Given the description of an element on the screen output the (x, y) to click on. 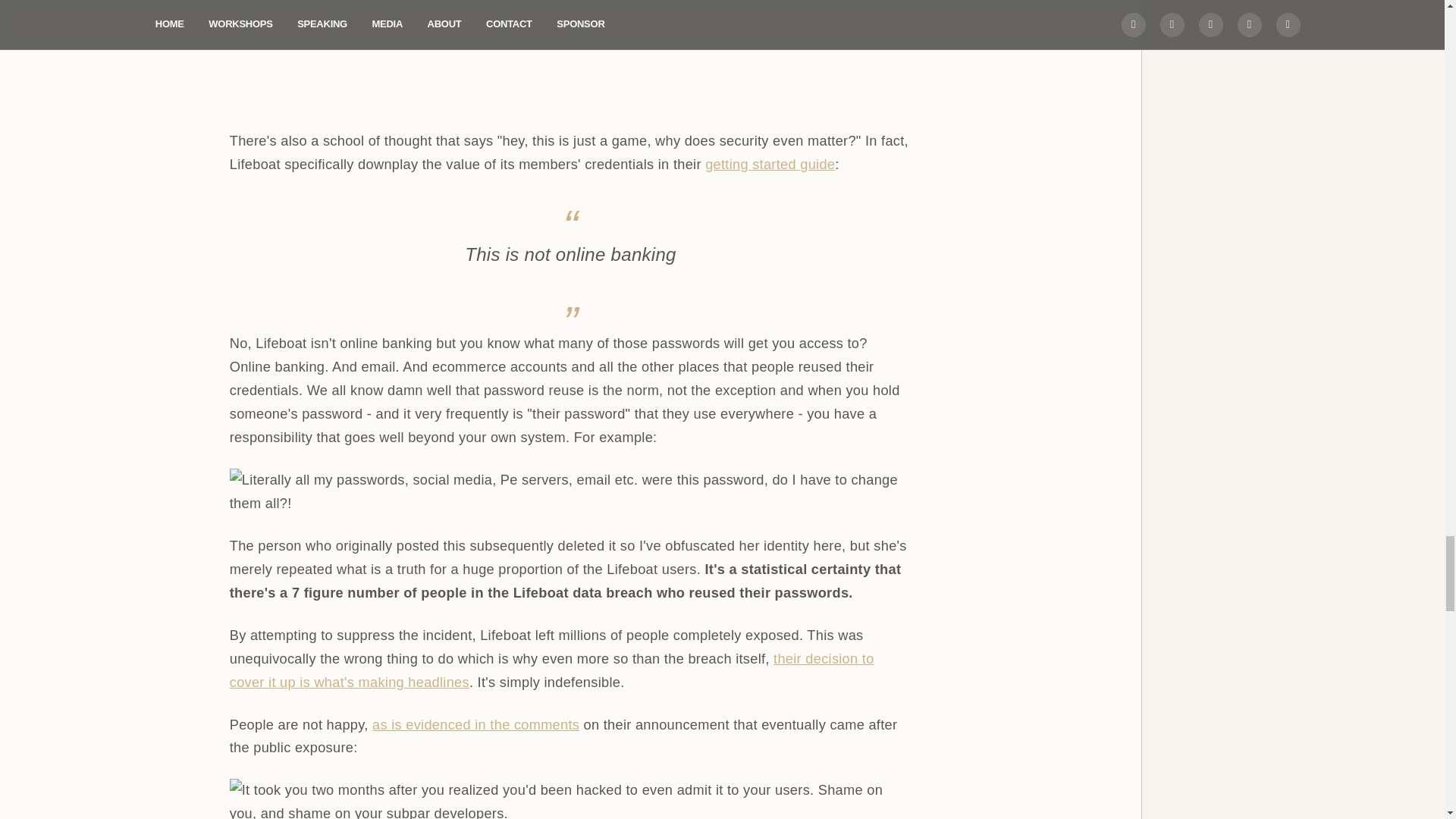
as is evidenced in the comments (475, 724)
their decision to cover it up is what's making headlines (552, 670)
getting started guide (769, 163)
